Given the description of an element on the screen output the (x, y) to click on. 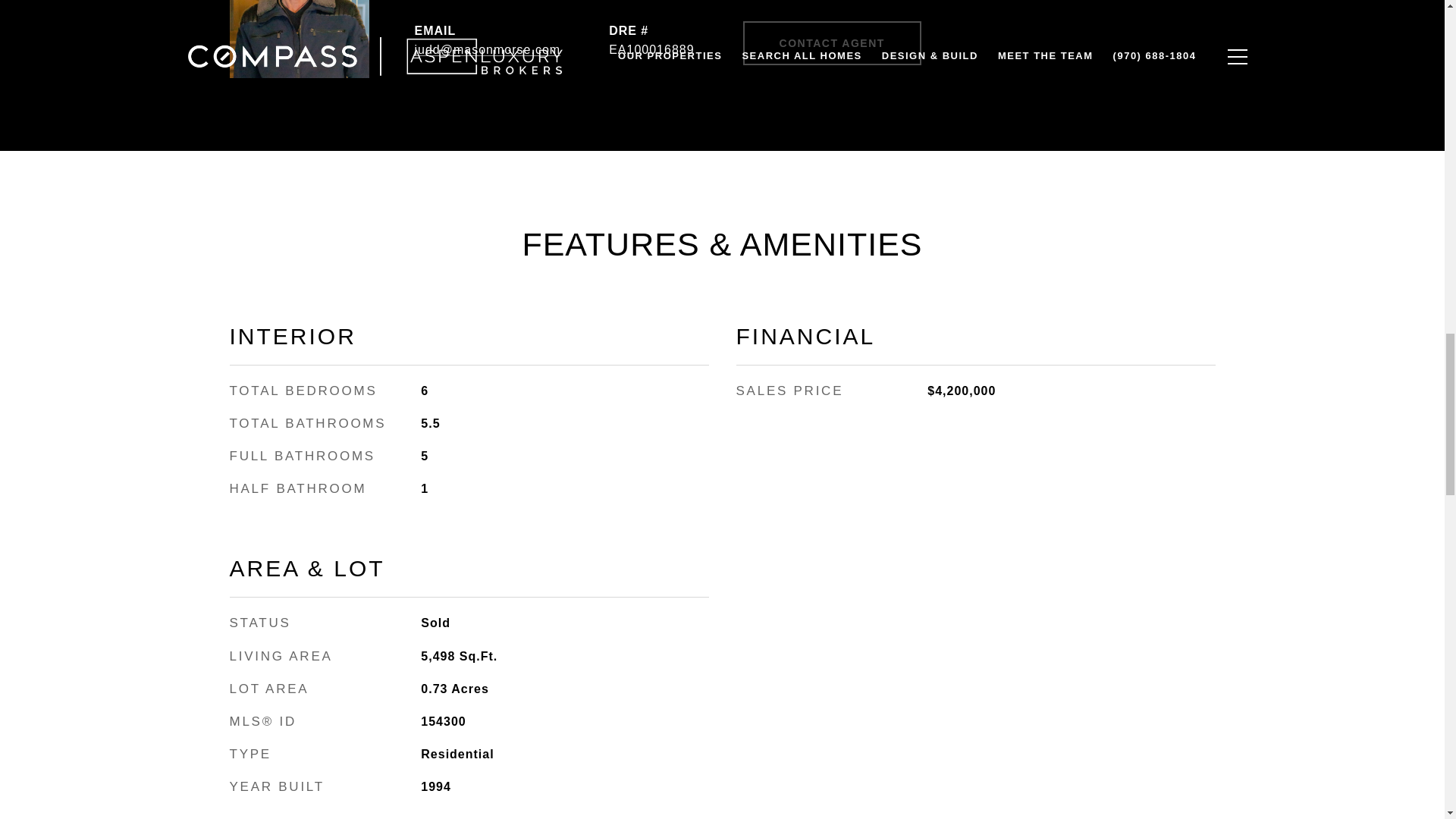
CONTACT AGENT (831, 43)
